Given the description of an element on the screen output the (x, y) to click on. 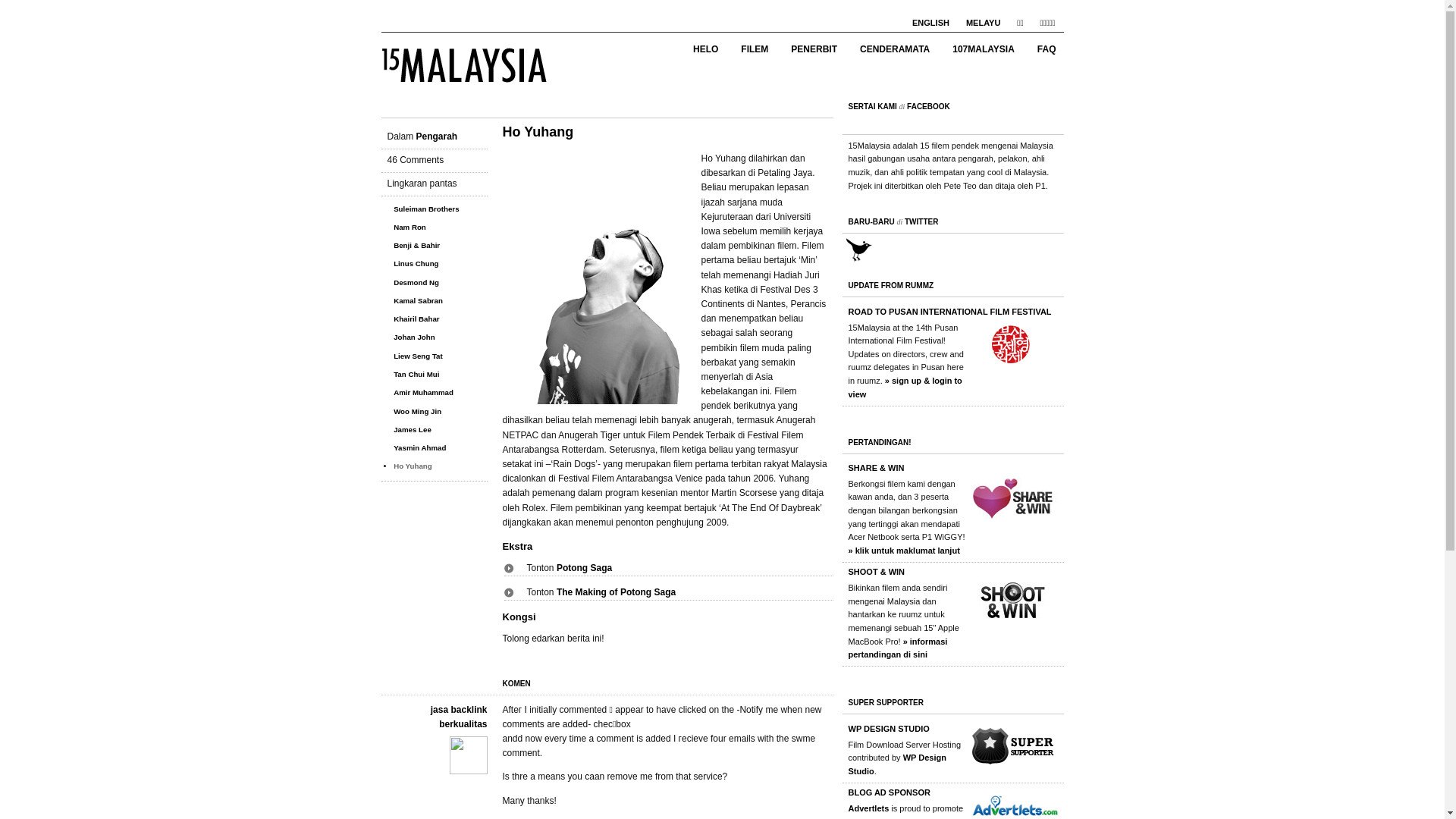
Ho Yuhang Element type: text (537, 131)
CENDERAMATA Element type: text (894, 48)
Desmond Ng Element type: text (416, 282)
HELO Element type: text (705, 48)
Ho Yuhang Element type: text (412, 465)
Nam Ron Element type: text (409, 226)
Amir Muhammad Element type: text (423, 392)
Tan Chui Mui Element type: text (416, 374)
The Making of Potong Saga Element type: text (615, 591)
Potong Saga Element type: text (583, 567)
Kamal Sabran Element type: text (417, 300)
ENGLISH Element type: text (930, 22)
Suleiman Brothers Element type: text (425, 208)
Yasmin Ahmad Element type: text (419, 447)
Pengarah Element type: text (437, 136)
Johan John Element type: text (414, 336)
James Lee Element type: text (412, 429)
FILEM Element type: text (754, 48)
107MALAYSIA Element type: text (983, 48)
Ho Yuhang Element type: hover (596, 277)
jasa backlink berkualitas Element type: text (458, 716)
Liew Seng Tat Element type: text (417, 355)
Linus Chung Element type: text (415, 263)
Woo Ming Jin Element type: text (417, 411)
PENERBIT Element type: text (813, 48)
Advertlets Element type: text (867, 807)
Khairil Bahar Element type: text (416, 318)
WP Design Studio Element type: text (896, 764)
FAQ Element type: text (1046, 48)
MELAYU Element type: text (983, 22)
Benji & Bahir Element type: text (416, 245)
